Given the description of an element on the screen output the (x, y) to click on. 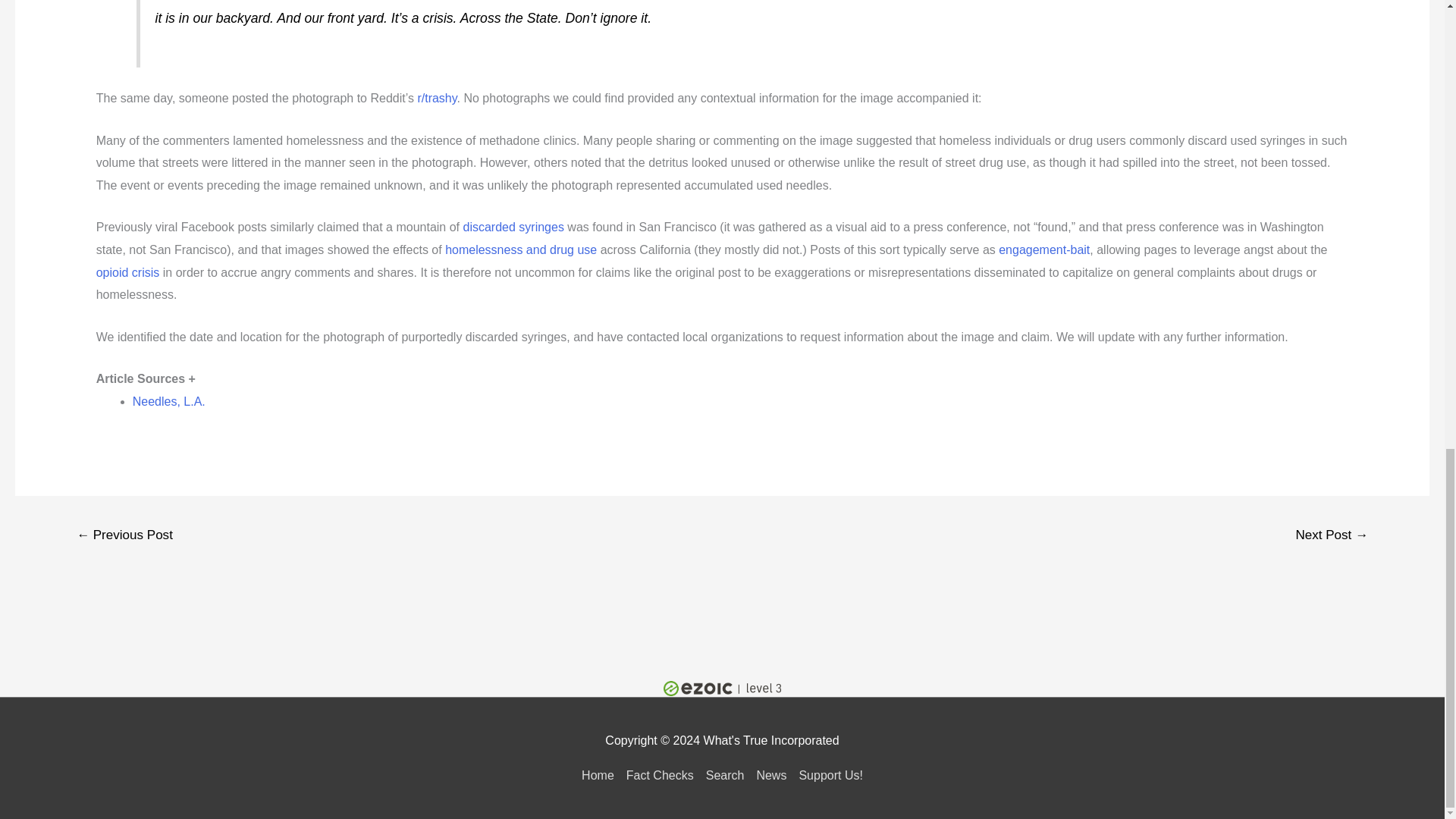
Search (725, 775)
homelessness and drug use (520, 249)
Needles, L.A. (168, 400)
News (770, 775)
Fact Checks (660, 775)
Support Us! (826, 775)
opioid crisis (128, 272)
discarded syringes (513, 226)
engagement-bait (1043, 249)
Home (600, 775)
